Given the description of an element on the screen output the (x, y) to click on. 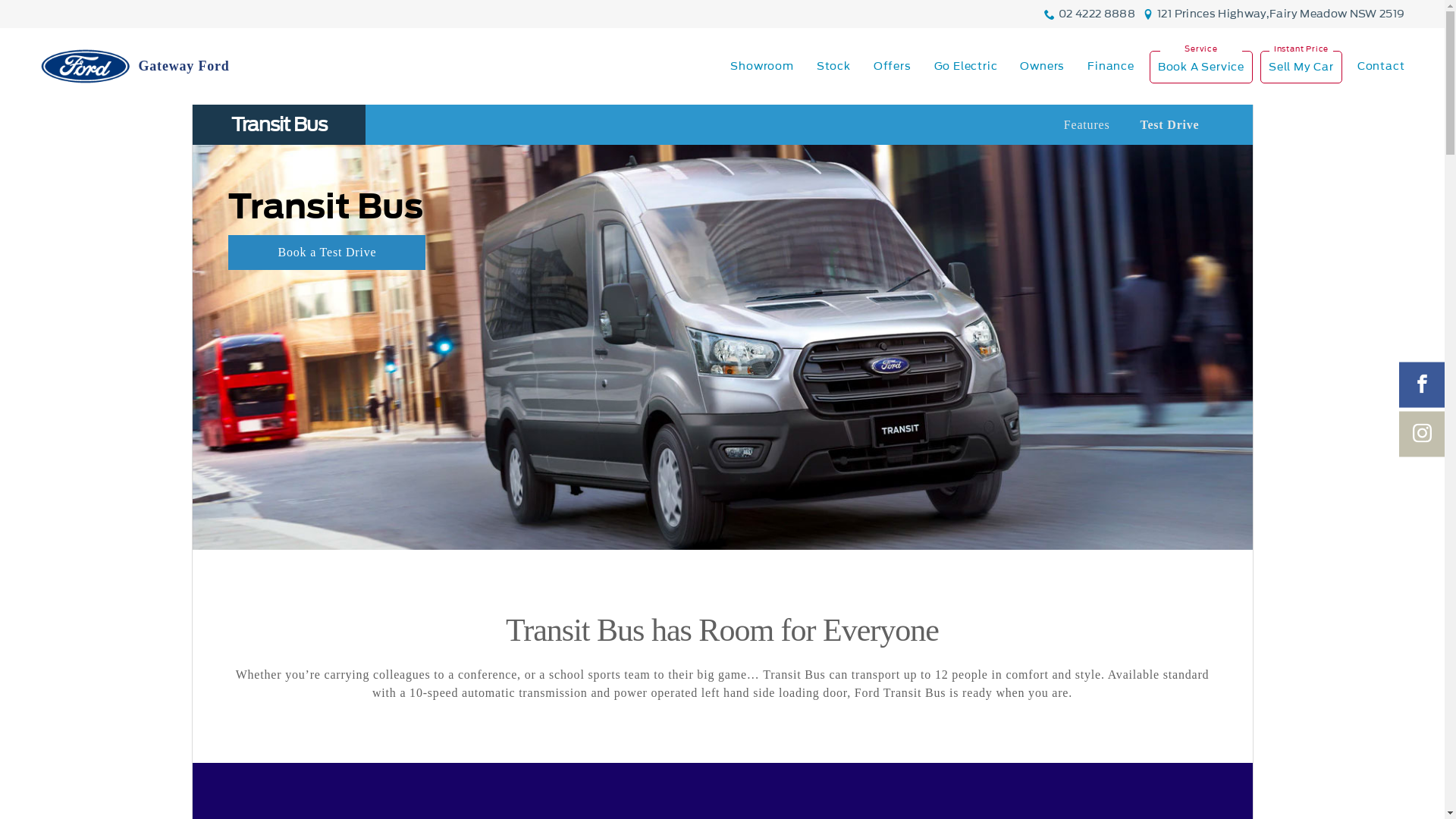
Test Drive Element type: text (1169, 124)
Gateway Ford Element type: text (134, 66)
Sell My Car Element type: text (1301, 66)
Owners Element type: text (1042, 66)
Showroom Element type: text (761, 66)
Book A Service Element type: text (1200, 66)
Stock Element type: text (833, 66)
Contact Element type: text (1375, 66)
02 4222 8888 Element type: text (1096, 13)
Go Electric Element type: text (965, 66)
Offers Element type: text (892, 66)
121 Princes Highway,Fairy Meadow NSW 2519 Element type: text (1280, 13)
Features Element type: text (1086, 124)
Finance Element type: text (1110, 66)
Book a Test Drive Element type: text (326, 252)
